Given the description of an element on the screen output the (x, y) to click on. 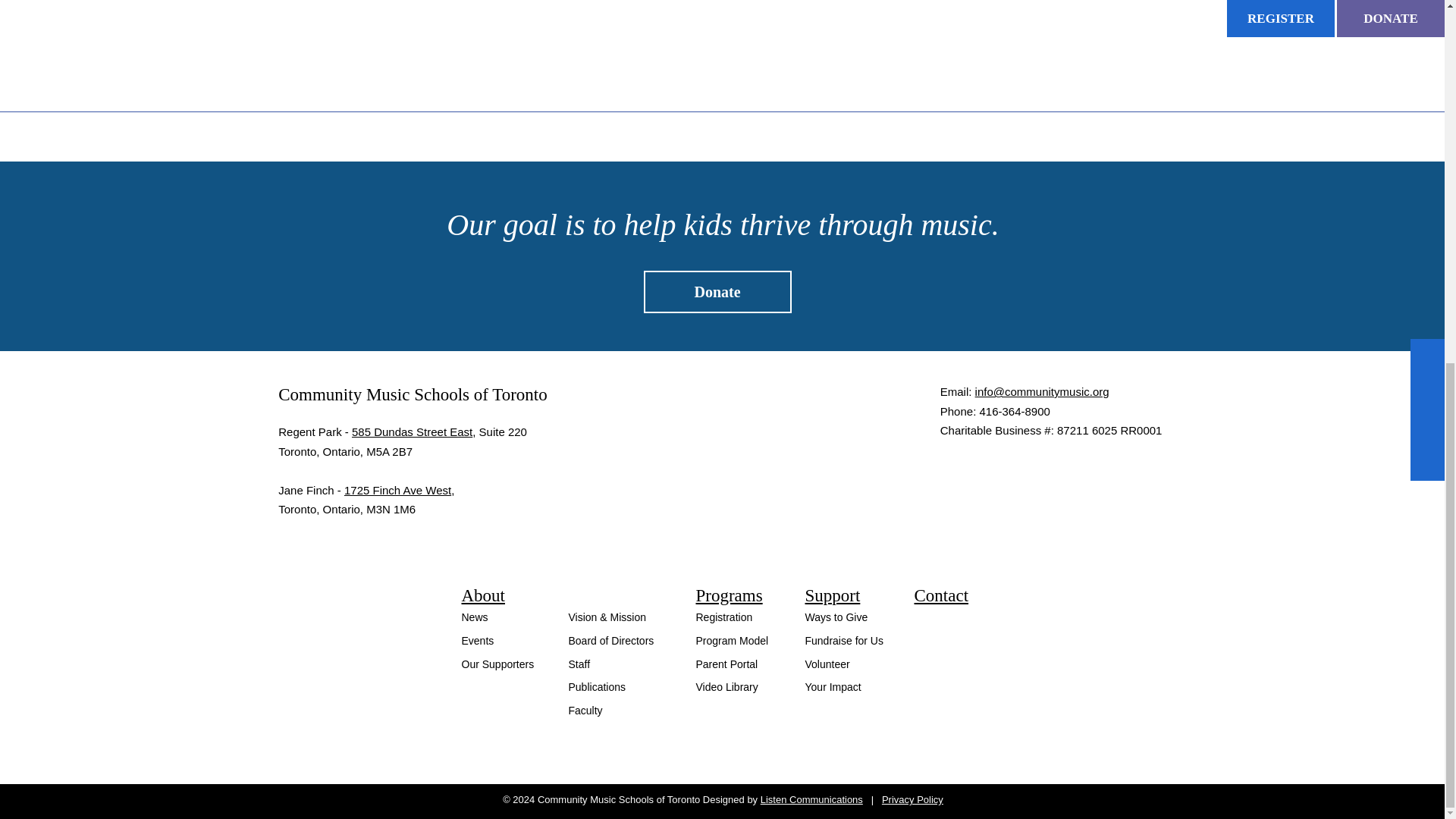
About (483, 595)
Our Supporters (497, 664)
News (474, 616)
Staff (580, 664)
Donate (716, 291)
Publications (597, 686)
Board of Directors (611, 640)
Faculty (585, 710)
Events (477, 640)
